Given the description of an element on the screen output the (x, y) to click on. 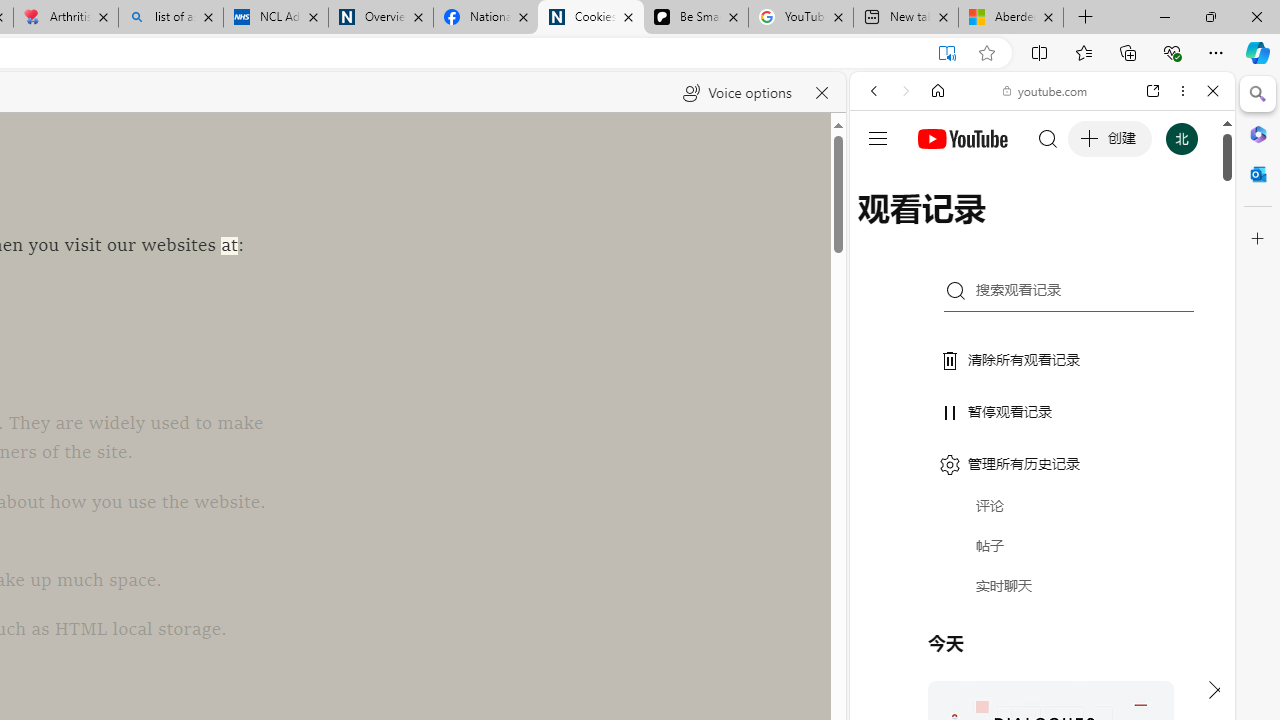
Arthritis: Ask Health Professionals (65, 17)
Music (1042, 543)
#you (1042, 445)
Google (1042, 494)
Be Smart | creating Science videos | Patreon (695, 17)
youtube.com (1046, 90)
